Given the description of an element on the screen output the (x, y) to click on. 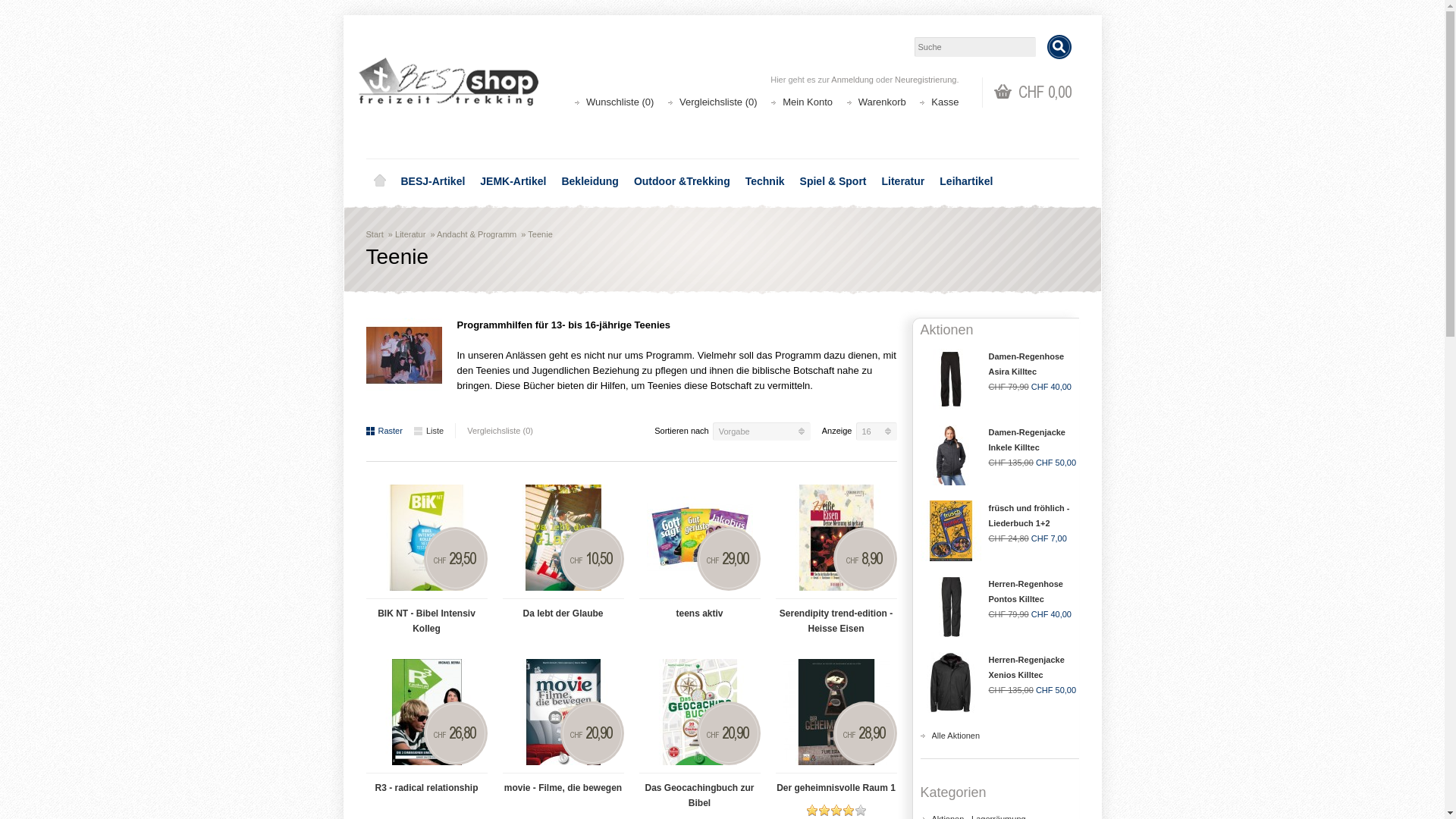
teens aktiv Element type: hover (699, 537)
Raster Element type: text (383, 430)
CHF 24,80 CHF 7,00 Element type: text (1027, 537)
R3 - radical relationship Element type: text (425, 783)
Vergleichsliste (0) Element type: text (494, 430)
BESJ-Artikel Element type: text (432, 181)
Anmeldung Element type: text (852, 79)
Andacht & Programm Element type: text (476, 233)
Suche Element type: hover (1058, 46)
Start Element type: text (373, 233)
Wunschliste (0) Element type: text (619, 101)
Home Element type: text (378, 181)
Das Geocachingbuch zur Bibel Element type: text (698, 791)
teens aktiv Element type: text (698, 609)
Neuregistrierung Element type: text (925, 79)
Herren-Regenhose Pontos Killtec Element type: text (1025, 591)
Teenie Element type: text (539, 233)
Der geheimnisvolle Raum 1 Element type: text (835, 783)
Alle Aktionen Element type: text (955, 735)
Bekleidung Element type: text (589, 181)
Leihartikel Element type: text (965, 181)
Das Geocachingbuch zur Bibel Element type: hover (699, 711)
BIK NT - Bibel Intensiv Kolleg Element type: text (425, 617)
Serendipity trend-edition - Heisse Eisen Element type: hover (835, 537)
CHF 79,90 CHF 40,00 Element type: text (1029, 613)
Literatur Element type: text (902, 181)
movie - Filme, die bewegen Element type: text (562, 783)
Spiel & Sport Element type: text (833, 181)
Liste Element type: text (428, 430)
Mein Konto Element type: text (807, 101)
BIK NT - Bibel Intensiv Kolleg Element type: hover (426, 537)
Damen-Regenjacke Inkele Killtec Element type: text (1027, 439)
CHF 135,00 CHF 50,00 Element type: text (1032, 462)
Herren-Regenjacke Xenios Killtec Element type: text (1026, 667)
Damen-Regenhose Asira Killtec Element type: text (1026, 363)
Der geheimnisvolle Raum 1 Element type: hover (835, 711)
CHF 0,00 Element type: text (1031, 92)
Warenkorb Element type: text (882, 101)
R3 - radical relationship Element type: hover (426, 711)
Outdoor &Trekking Element type: text (681, 181)
Literatur Element type: text (410, 233)
Da lebt der Glaube Element type: hover (562, 537)
JEMK-Artikel Element type: text (512, 181)
CHF 135,00 CHF 50,00 Element type: text (1032, 689)
Technik Element type: text (764, 181)
movie - Filme, die bewegen Element type: hover (562, 711)
BESJ-Shop Element type: hover (447, 84)
Serendipity trend-edition - Heisse Eisen Element type: text (835, 617)
Kasse Element type: text (944, 101)
CHF 79,90 CHF 40,00 Element type: text (1029, 386)
Vergleichsliste (0) Element type: text (718, 101)
Da lebt der Glaube Element type: text (562, 609)
